Given the description of an element on the screen output the (x, y) to click on. 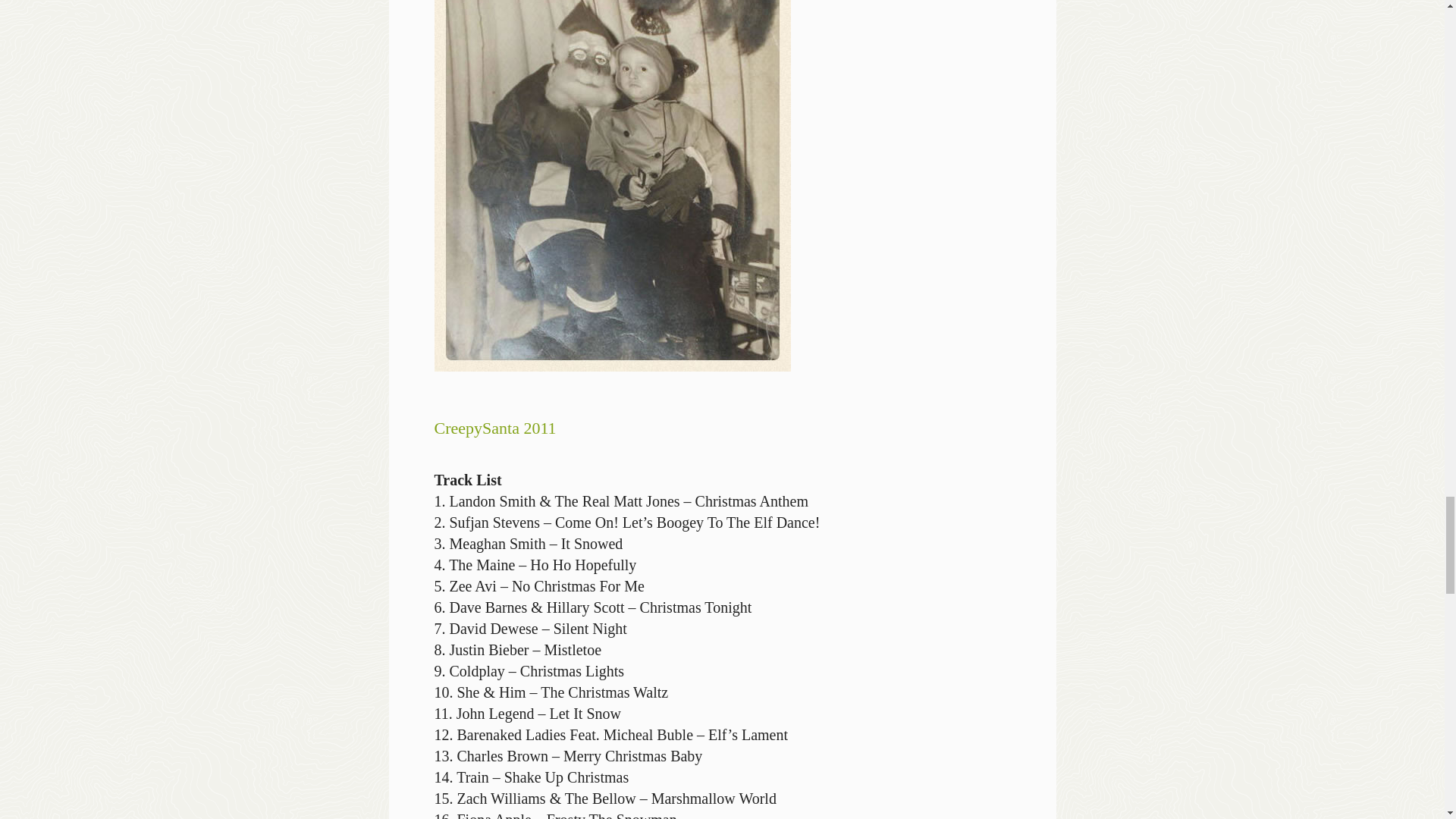
CreepySanta 2011 - A decent Christmas playlist for 2011 (611, 185)
